Given the description of an element on the screen output the (x, y) to click on. 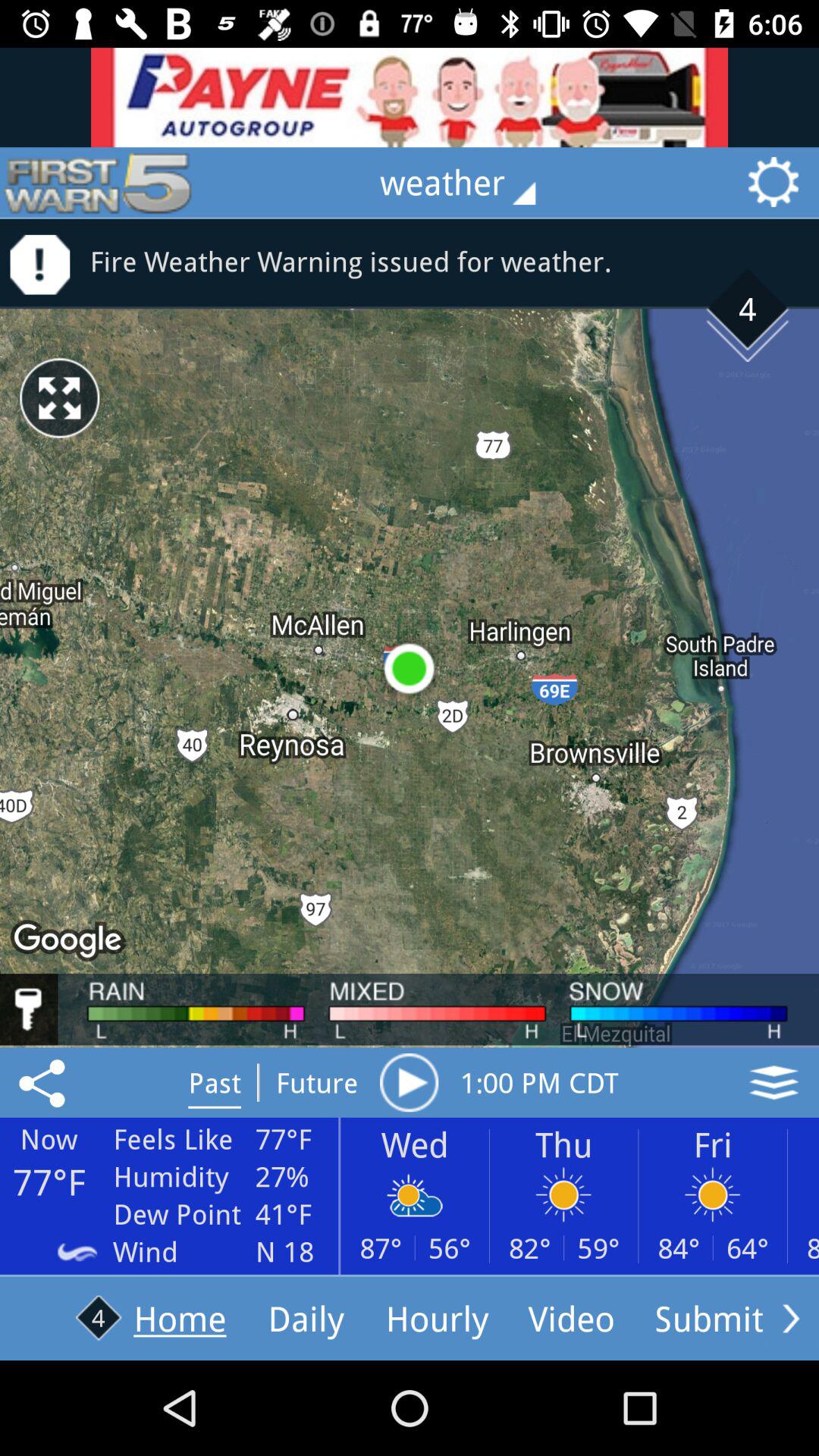
share weather now (44, 1082)
